Given the description of an element on the screen output the (x, y) to click on. 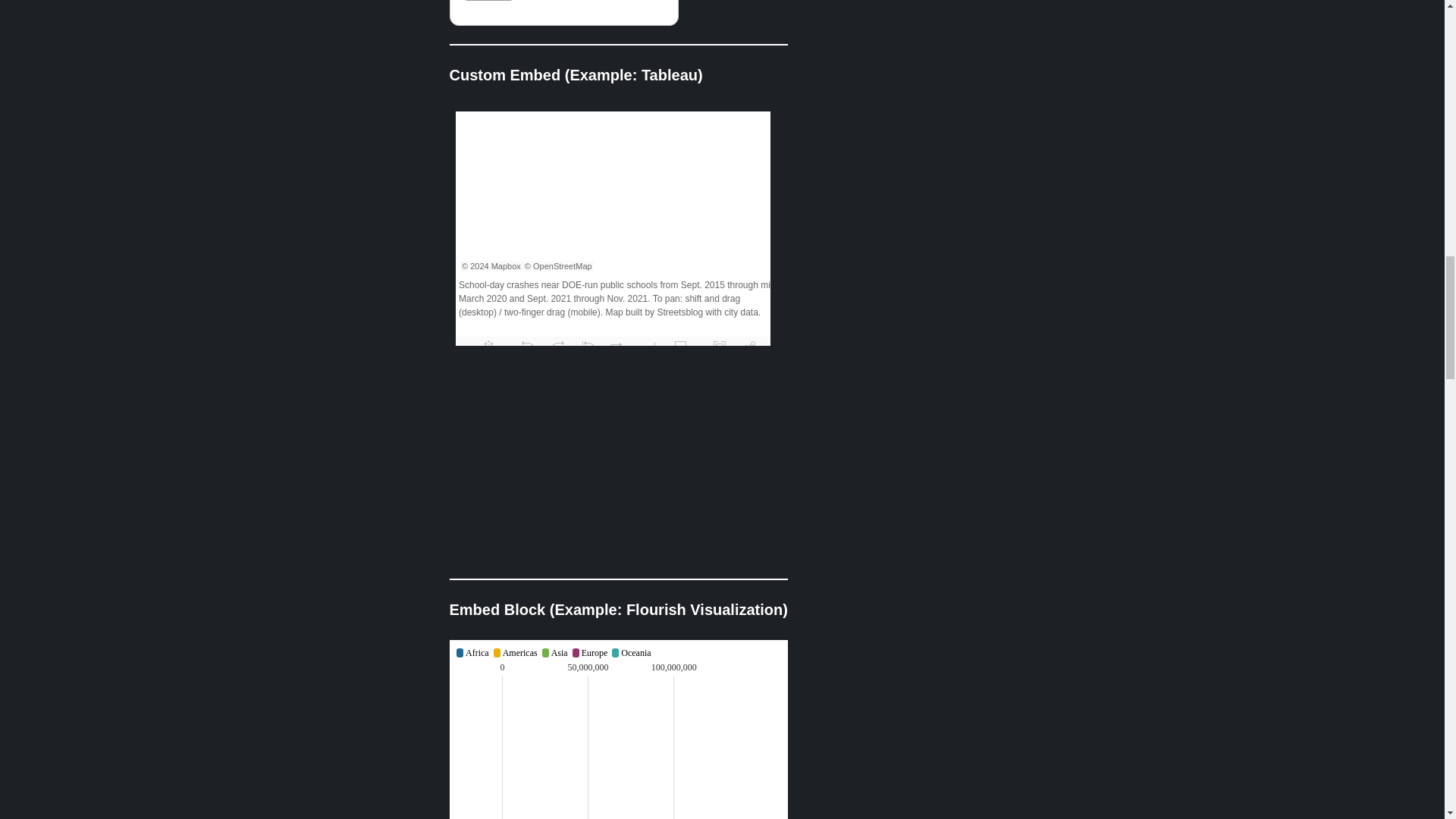
Interactive or visual content (617, 729)
